Given the description of an element on the screen output the (x, y) to click on. 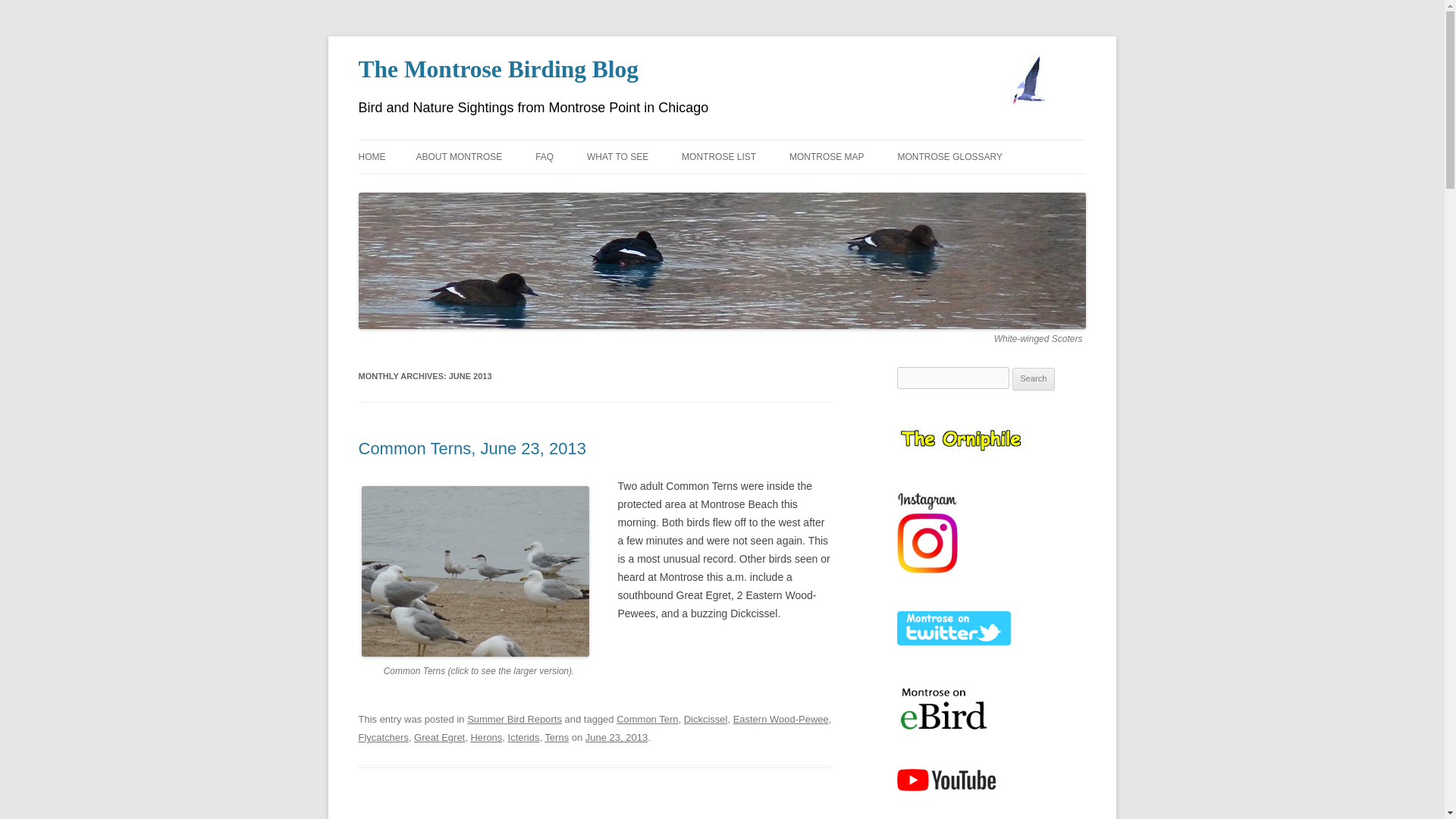
Summer Bird Reports (514, 718)
Herons (486, 737)
MONTROSE MAP (826, 156)
Common Terns, June 23, 2013 (471, 447)
Icterids (524, 737)
Flycatchers (382, 737)
Eastern Wood-Pewee (780, 718)
Common Terns (474, 571)
WHAT TO SEE (616, 156)
June 23, 2013 (616, 737)
Dickcissel (706, 718)
MONTROSE GLOSSARY (950, 156)
Terns (556, 737)
MONTROSE LIST (718, 156)
